Given the description of an element on the screen output the (x, y) to click on. 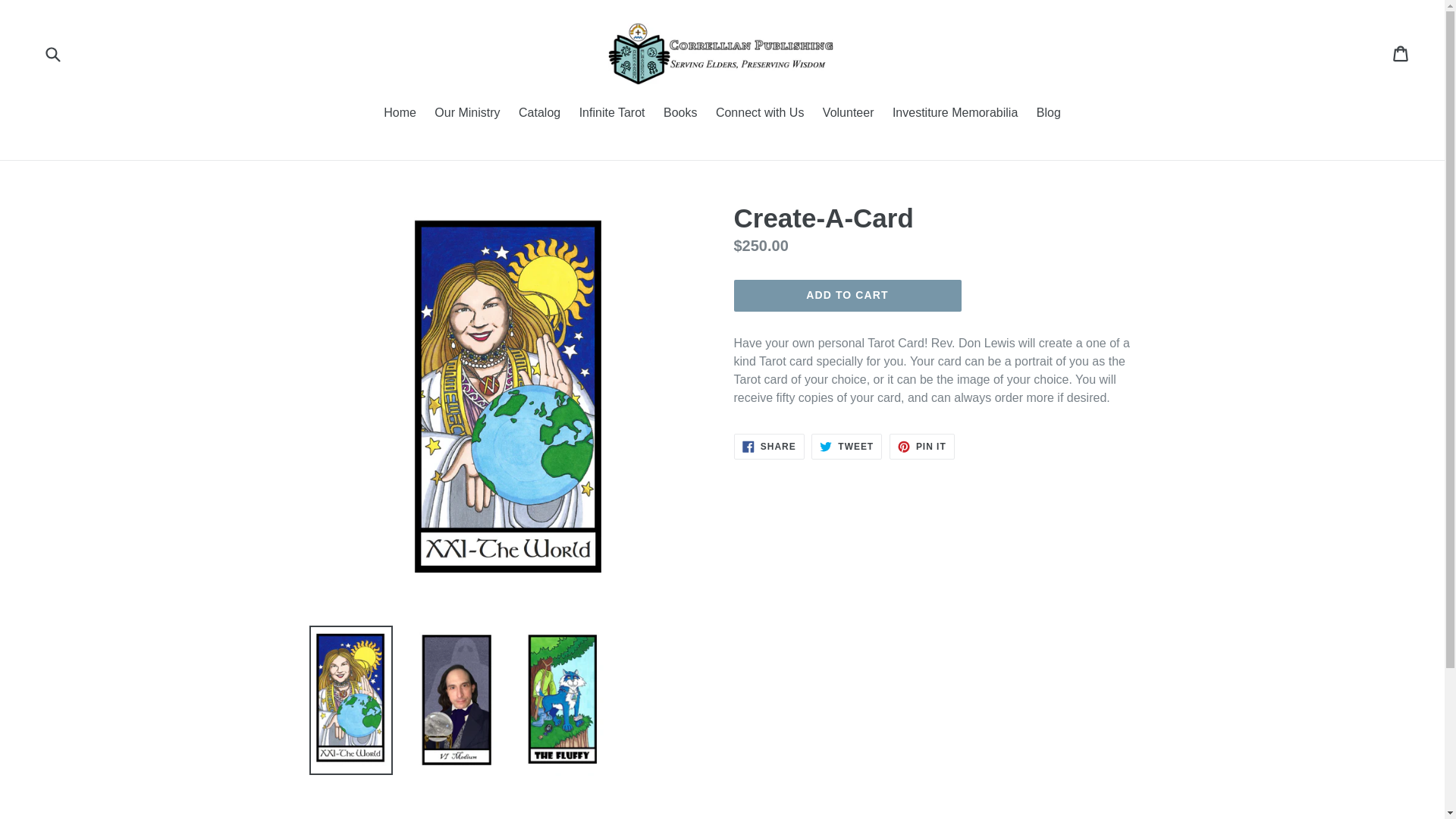
ADD TO CART (922, 446)
Catalog (846, 296)
Tweet on Twitter (1401, 53)
Connect with Us (539, 114)
Infinite Tarot (846, 446)
Share on Facebook (759, 114)
Home (612, 114)
Investiture Memorabilia (769, 446)
Pin on Pinterest (399, 114)
Blog (955, 114)
Our Ministry (922, 446)
Books (1048, 114)
